Given the description of an element on the screen output the (x, y) to click on. 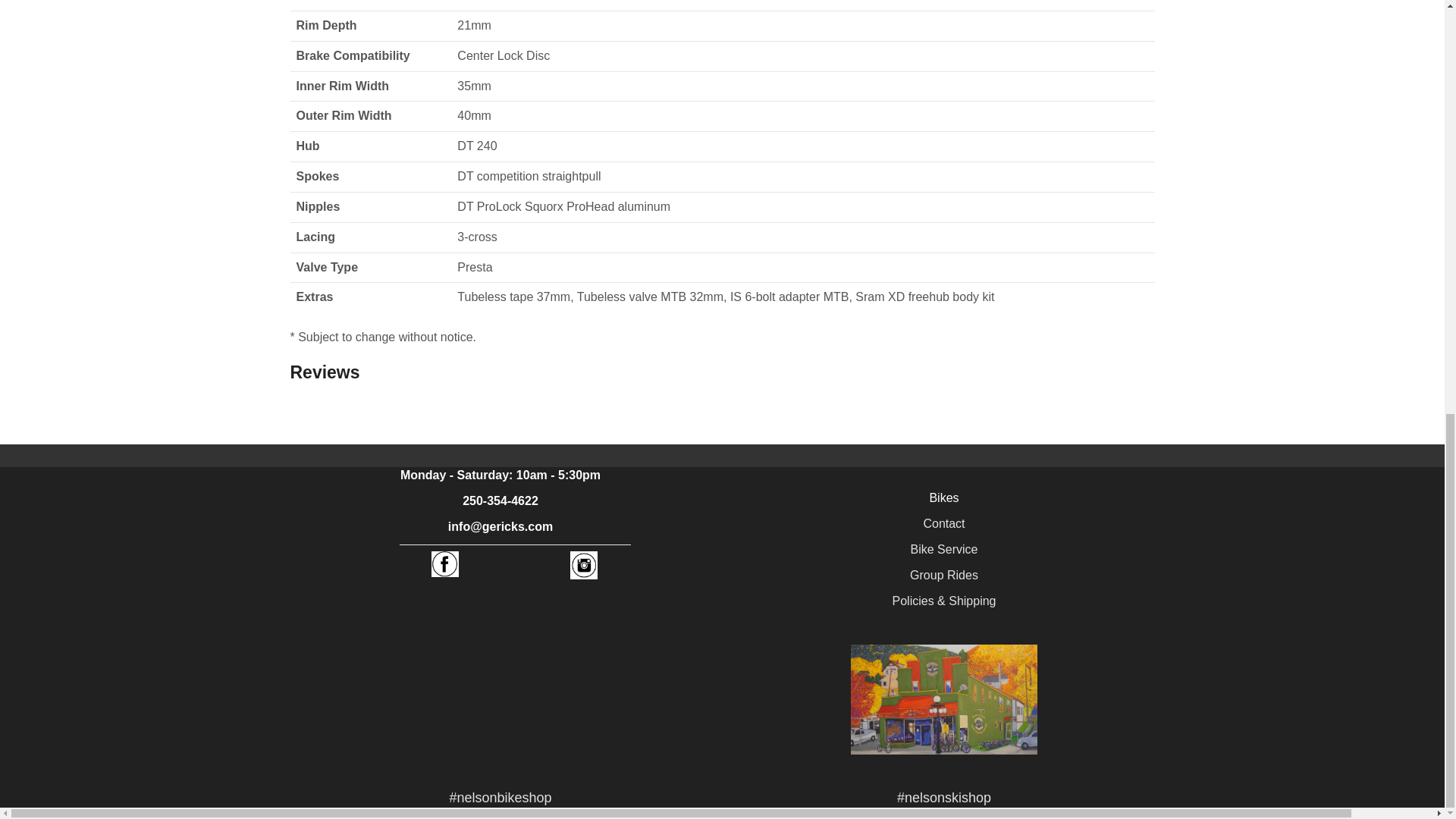
GROUP RIDES (944, 574)
CONTACT (943, 522)
BIKES (943, 497)
BIKE SERVICE (944, 549)
